Given the description of an element on the screen output the (x, y) to click on. 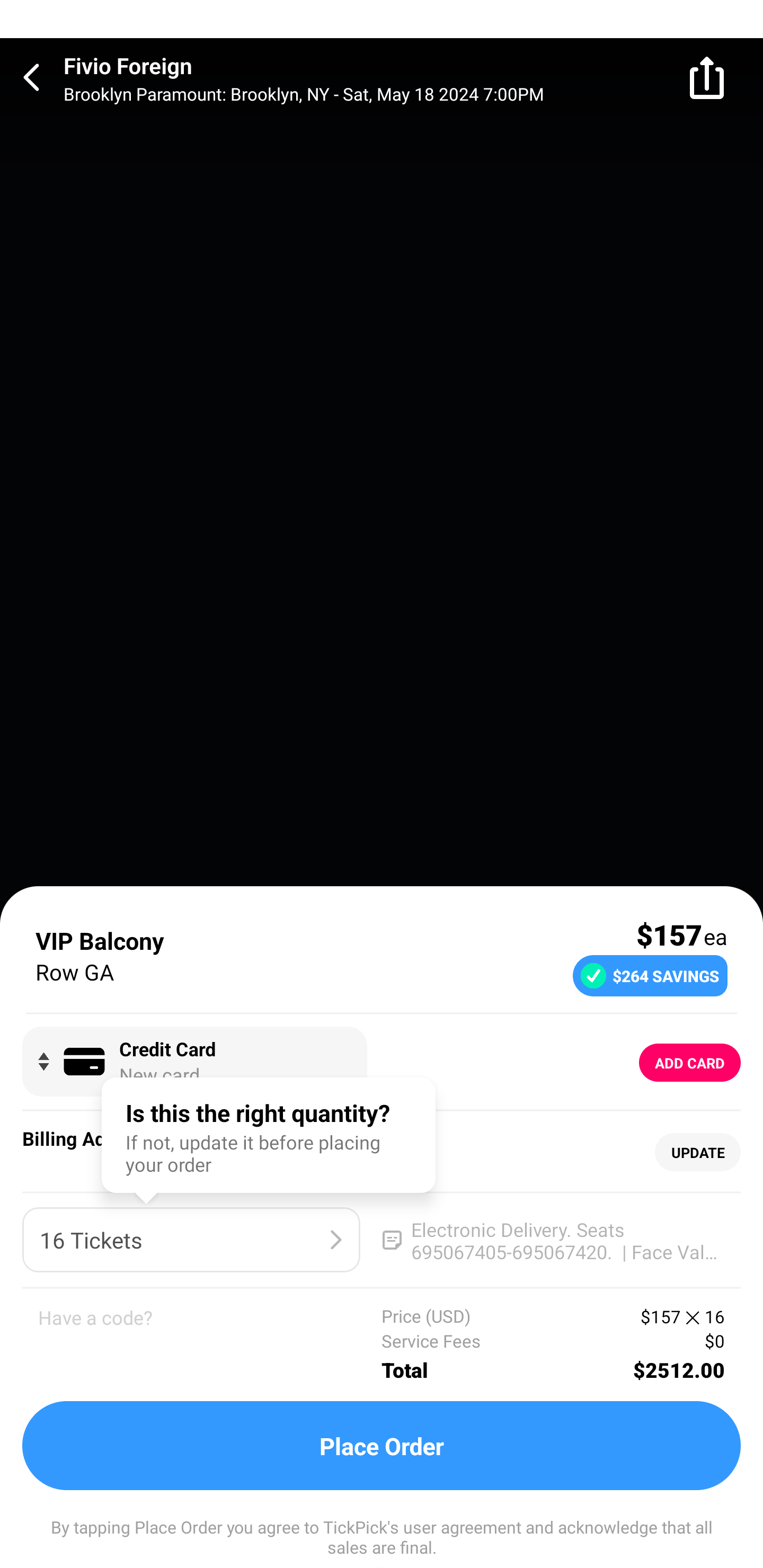
$264 SAVINGS (650, 974)
Credit Card, New card Credit Card New card (194, 1061)
ADD CARD (689, 1062)
UPDATE (697, 1152)
16 Tickets (191, 1239)
Have a code? (209, 1344)
Place Order (381, 1445)
